Given the description of an element on the screen output the (x, y) to click on. 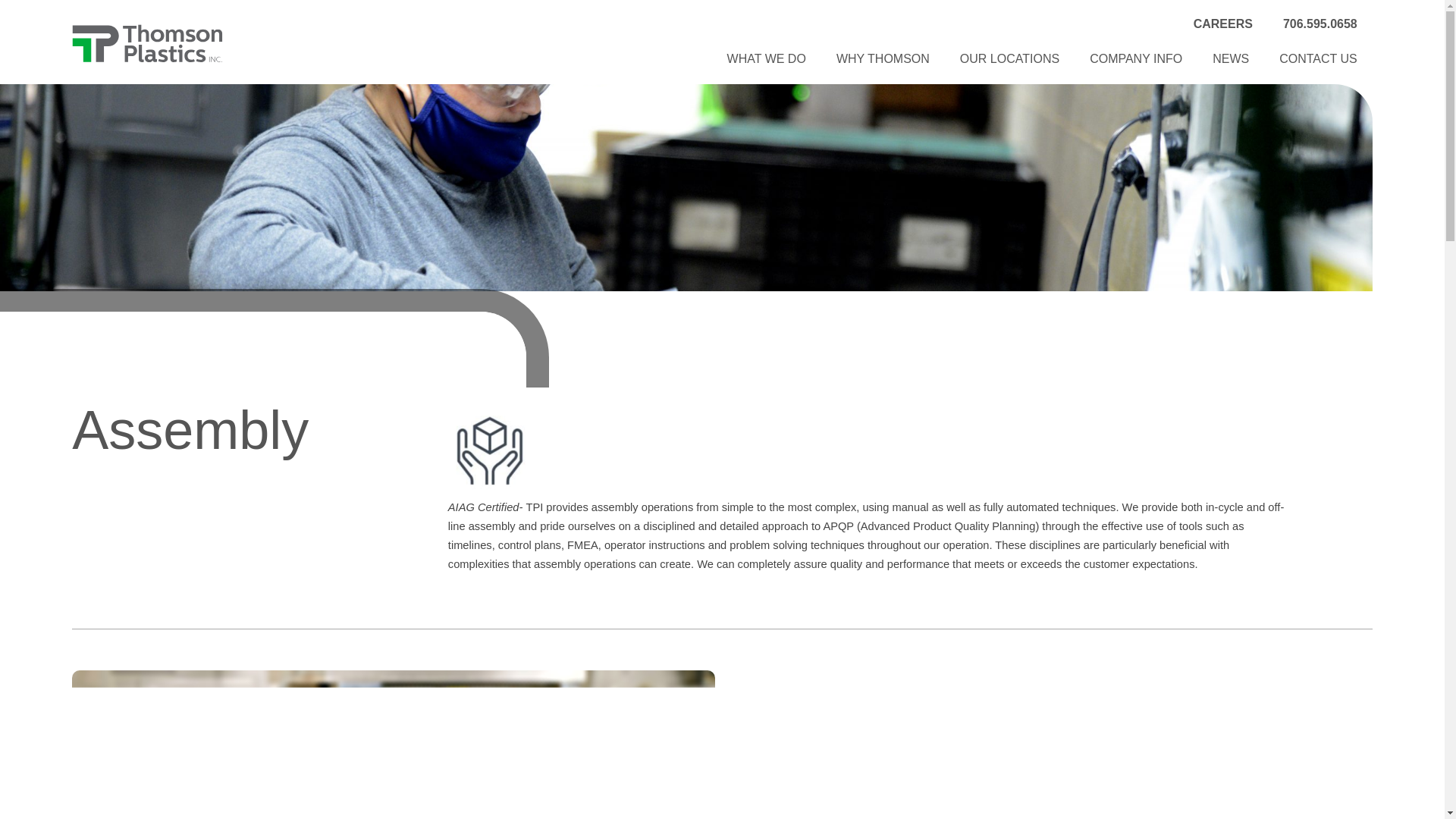
CONTACT US (1318, 58)
COMPANY INFO (1135, 58)
706.595.0658 (1320, 23)
WHAT WE DO (766, 58)
IMD (1050, 744)
NEWS (1229, 58)
pad print wide (392, 744)
WHY THOMSON (882, 58)
OUR LOCATIONS (1009, 58)
CAREERS (1222, 23)
